Given the description of an element on the screen output the (x, y) to click on. 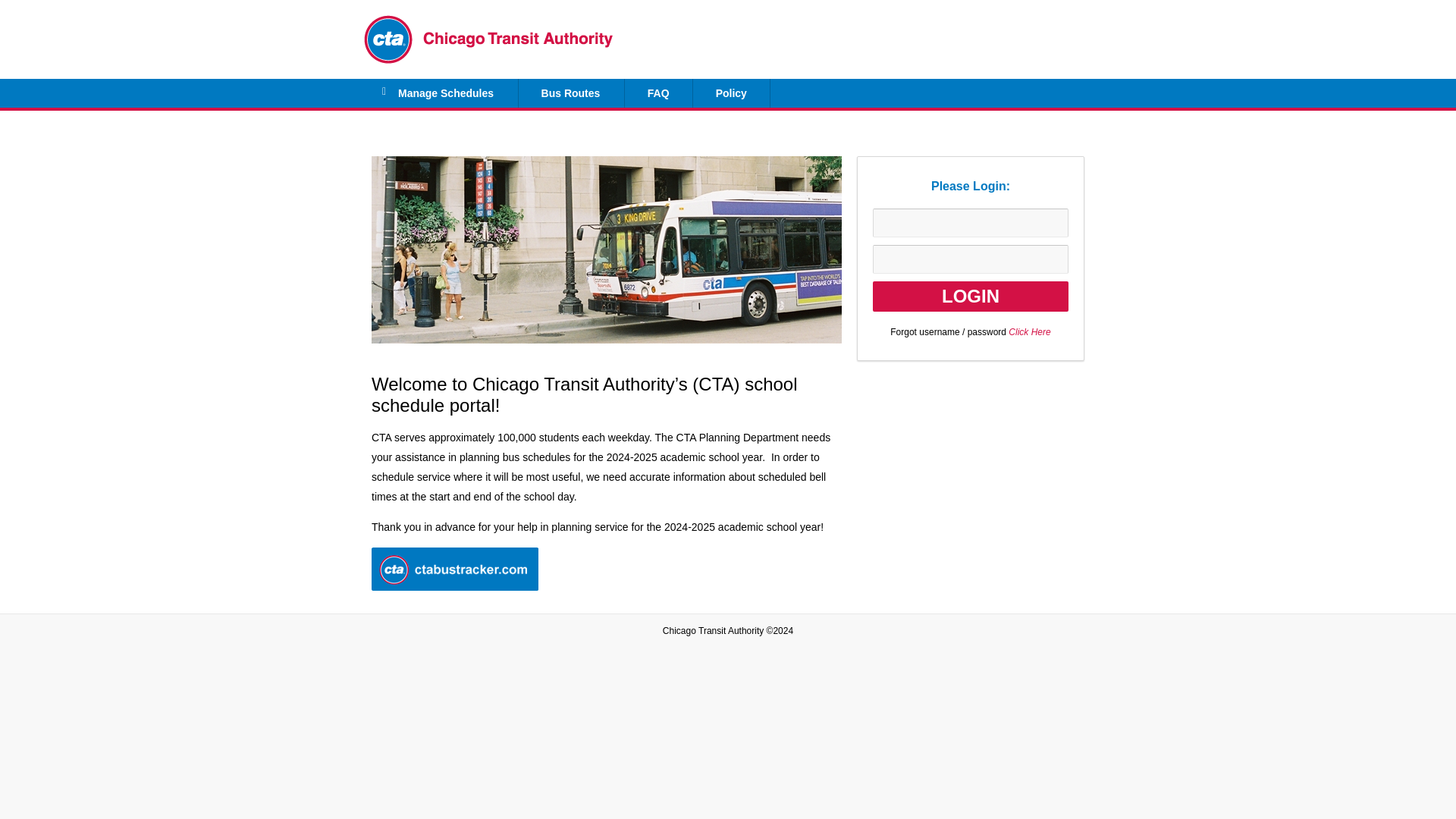
Manage Schedules (441, 92)
Click Here (1029, 331)
Bus Routes (571, 92)
FAQ (658, 92)
Policy (731, 92)
Login (970, 296)
Login (970, 296)
